Given the description of an element on the screen output the (x, y) to click on. 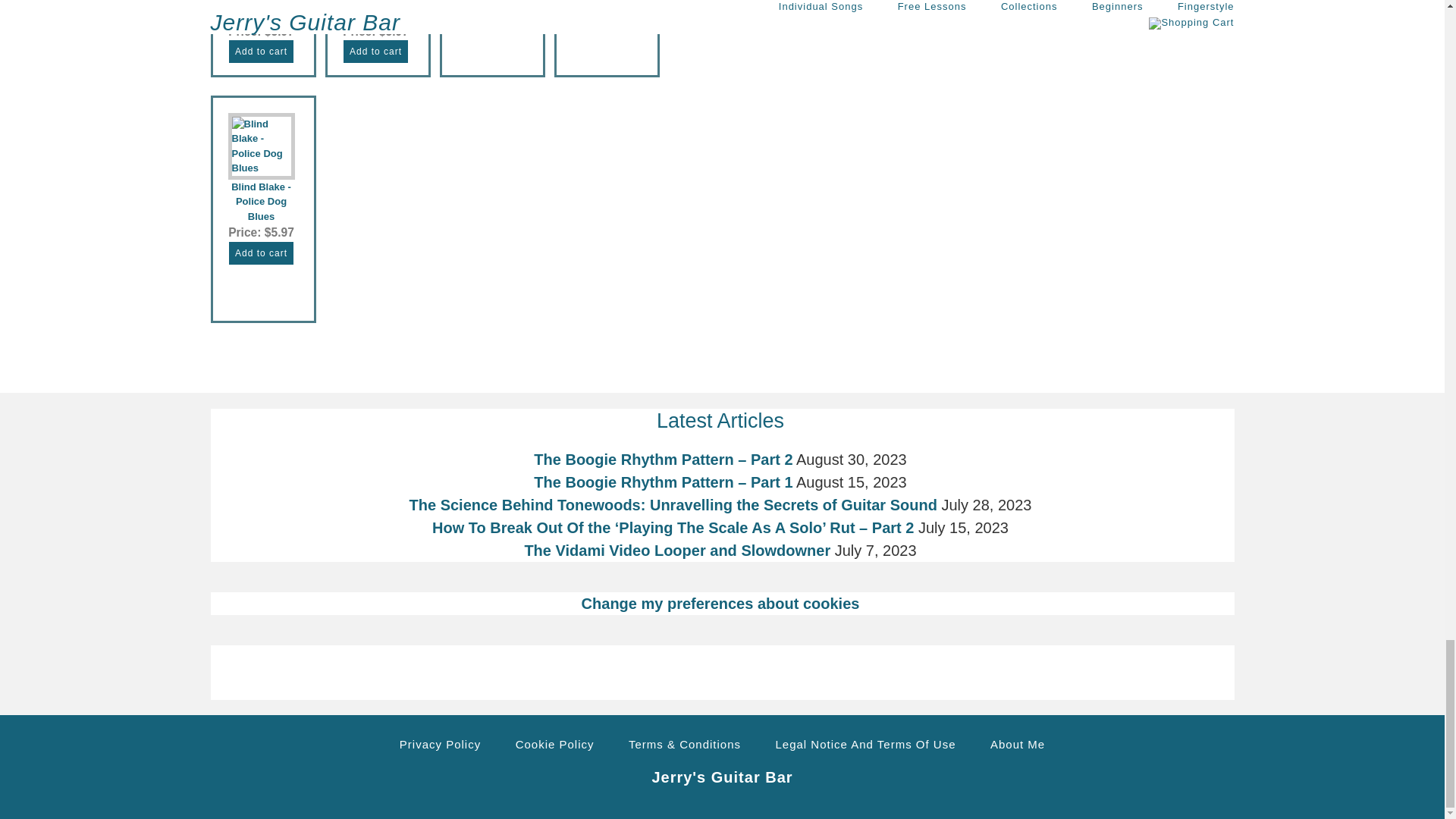
Add to cart (261, 252)
Add to cart (490, 9)
Add to cart (604, 9)
Blind Blake  -  Police Dog Blues (260, 167)
Add to cart (261, 51)
Add to cart (375, 51)
